Given the description of an element on the screen output the (x, y) to click on. 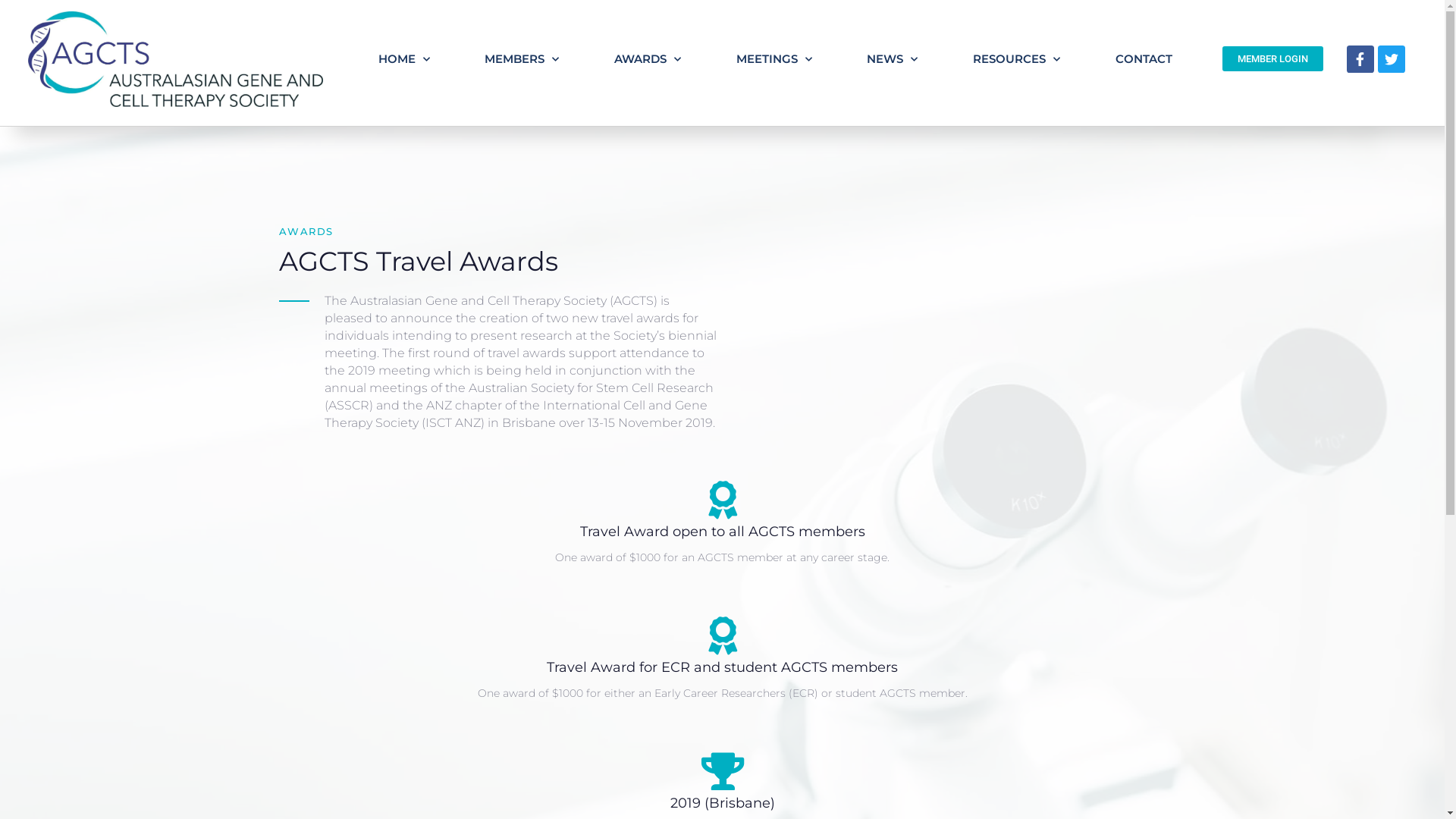
Travel Award open to all AGCTS members Element type: text (721, 531)
MEMBER LOGIN Element type: text (1272, 58)
RESOURCES Element type: text (1016, 58)
MEMBERS Element type: text (521, 58)
Facebook-f Element type: text (1360, 58)
NEWS Element type: text (892, 58)
MEETINGS Element type: text (773, 58)
Twitter Element type: text (1391, 58)
2019 (Brisbane) Element type: text (722, 802)
HOME Element type: text (403, 58)
Travel Award for ECR and student AGCTS members Element type: text (721, 666)
AWARDS Element type: text (647, 58)
CONTACT Element type: text (1143, 58)
